Given the description of an element on the screen output the (x, y) to click on. 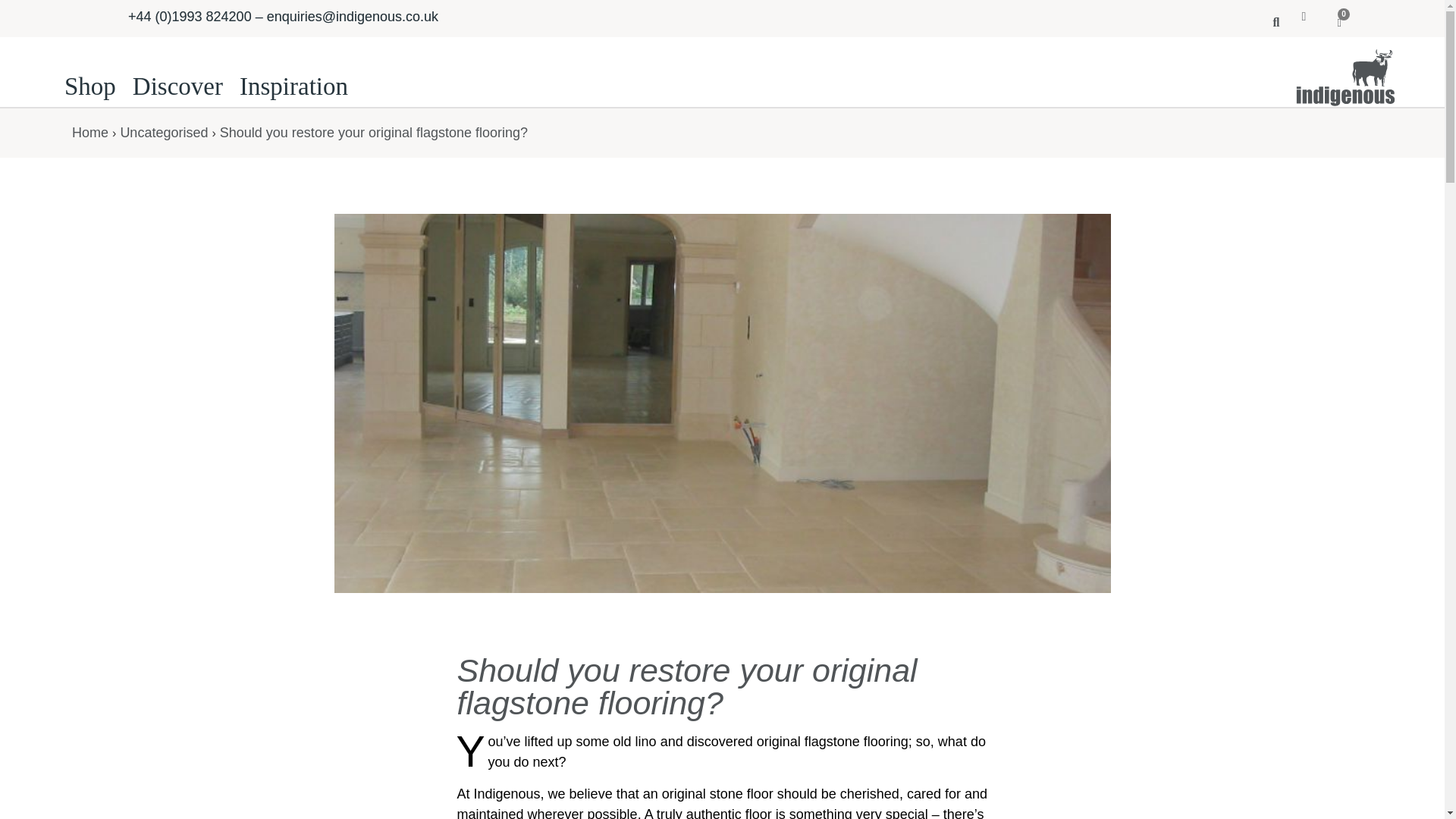
Home (89, 132)
Search (1270, 22)
Uncategorised (163, 132)
